Given the description of an element on the screen output the (x, y) to click on. 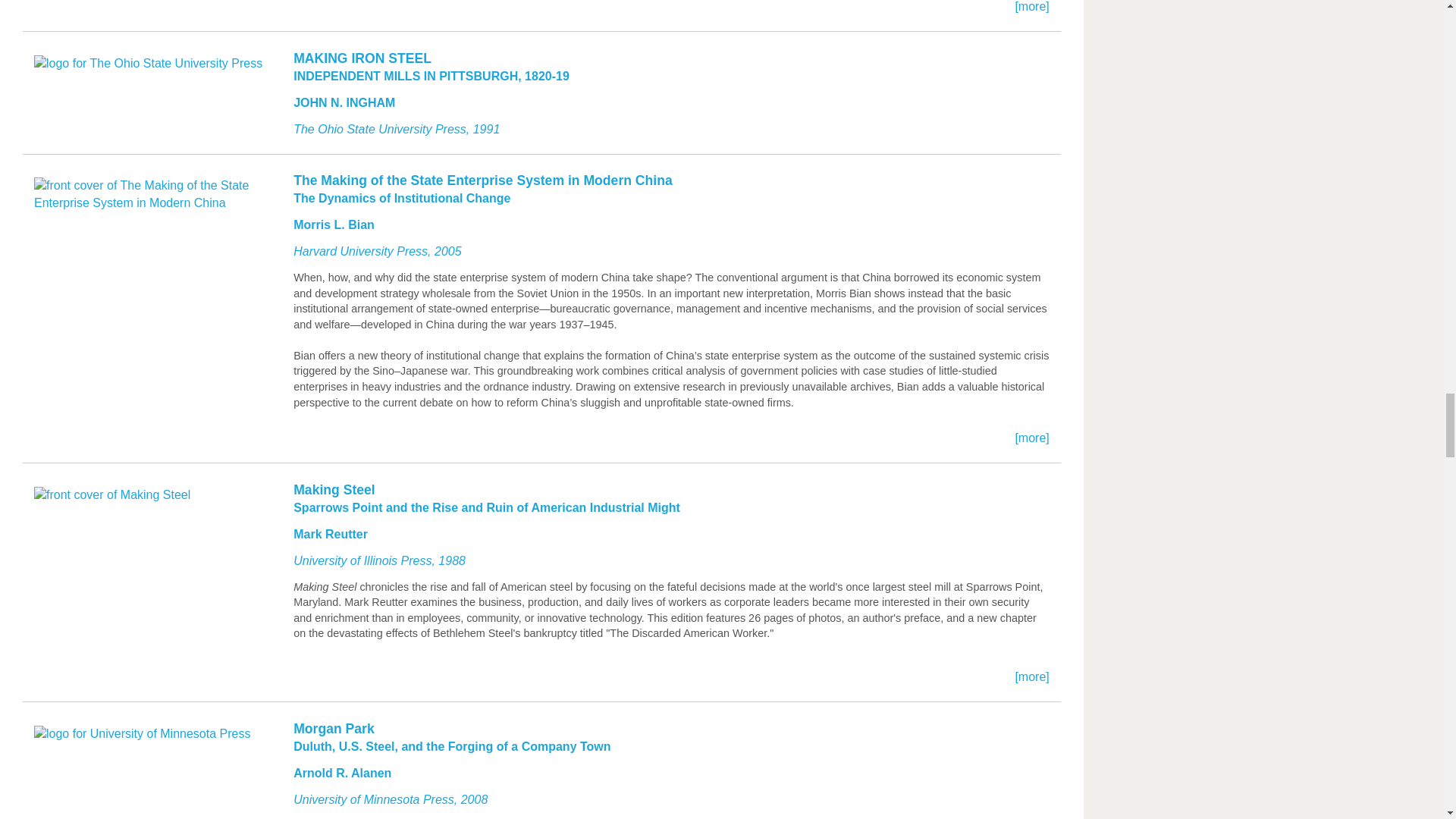
See more information about this book (541, 108)
See more information about this book (541, 22)
See more information about this book (541, 769)
